Given the description of an element on the screen output the (x, y) to click on. 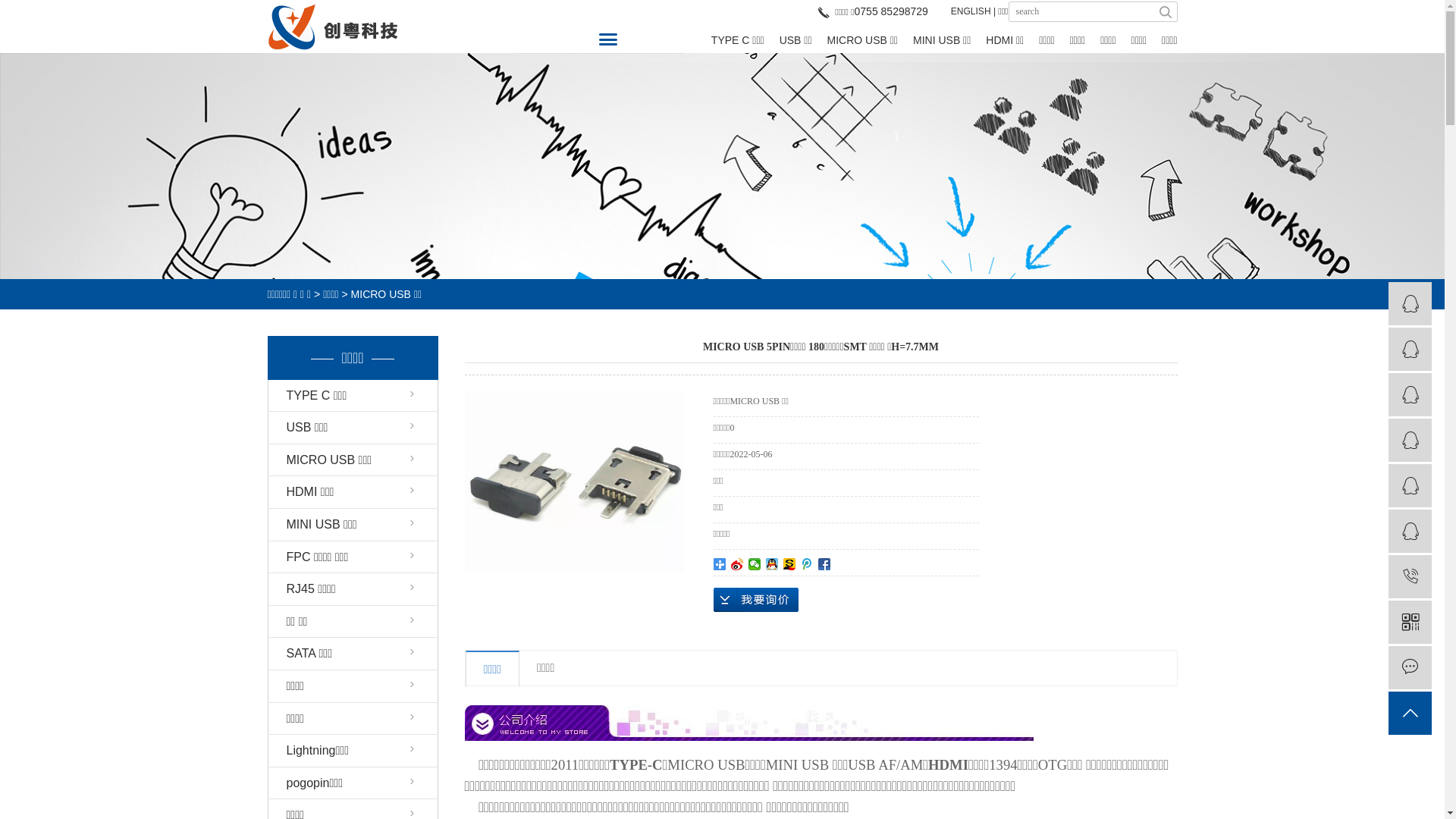
TYPE-C Element type: text (635, 764)
ENGLISH Element type: text (970, 11)
